Given the description of an element on the screen output the (x, y) to click on. 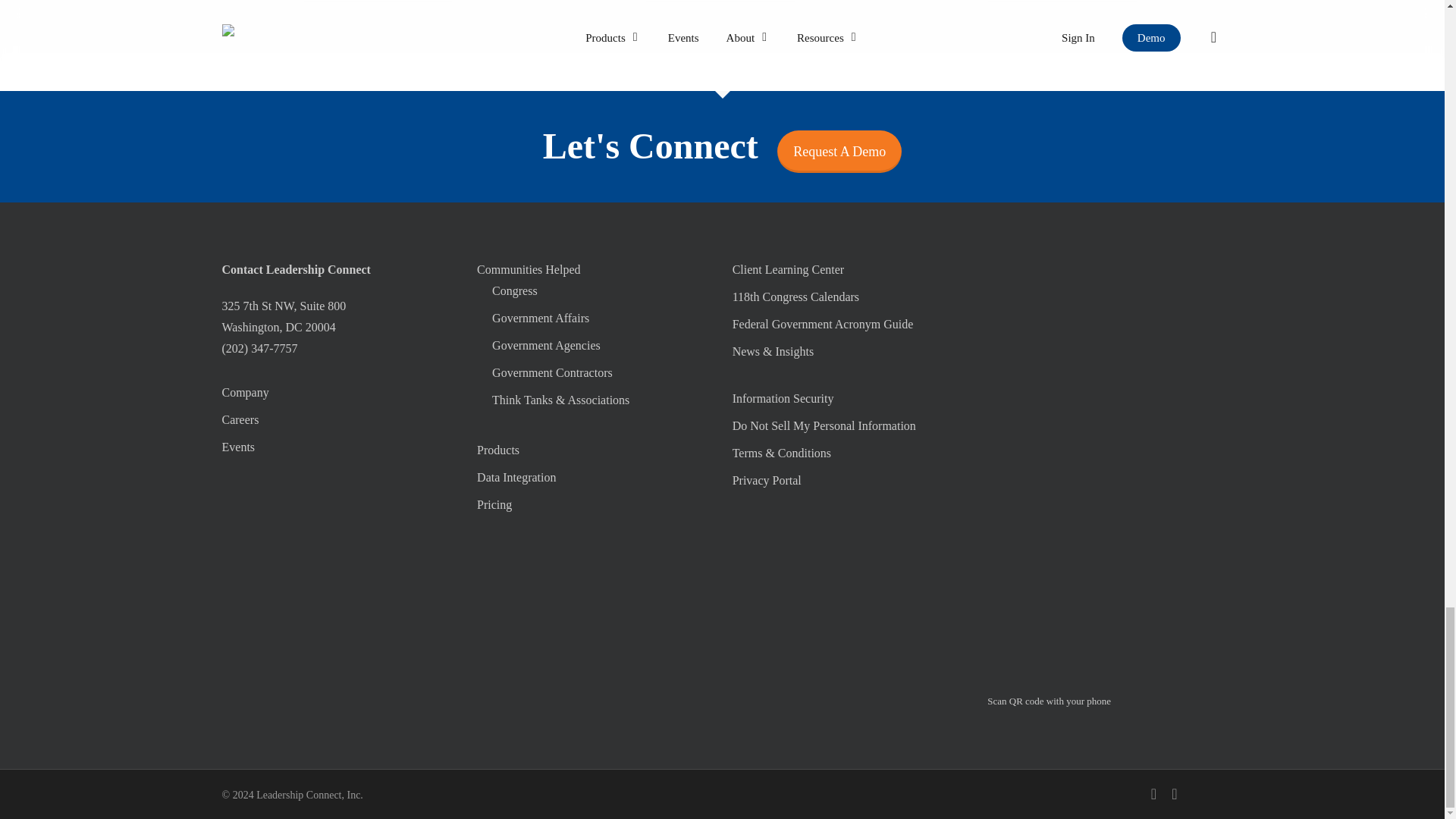
Call Leadership Connect's DC Office (259, 348)
Download Leadership Connect for iOS devices (1105, 294)
Download Leadership Connect for Android devices (1105, 403)
